Given the description of an element on the screen output the (x, y) to click on. 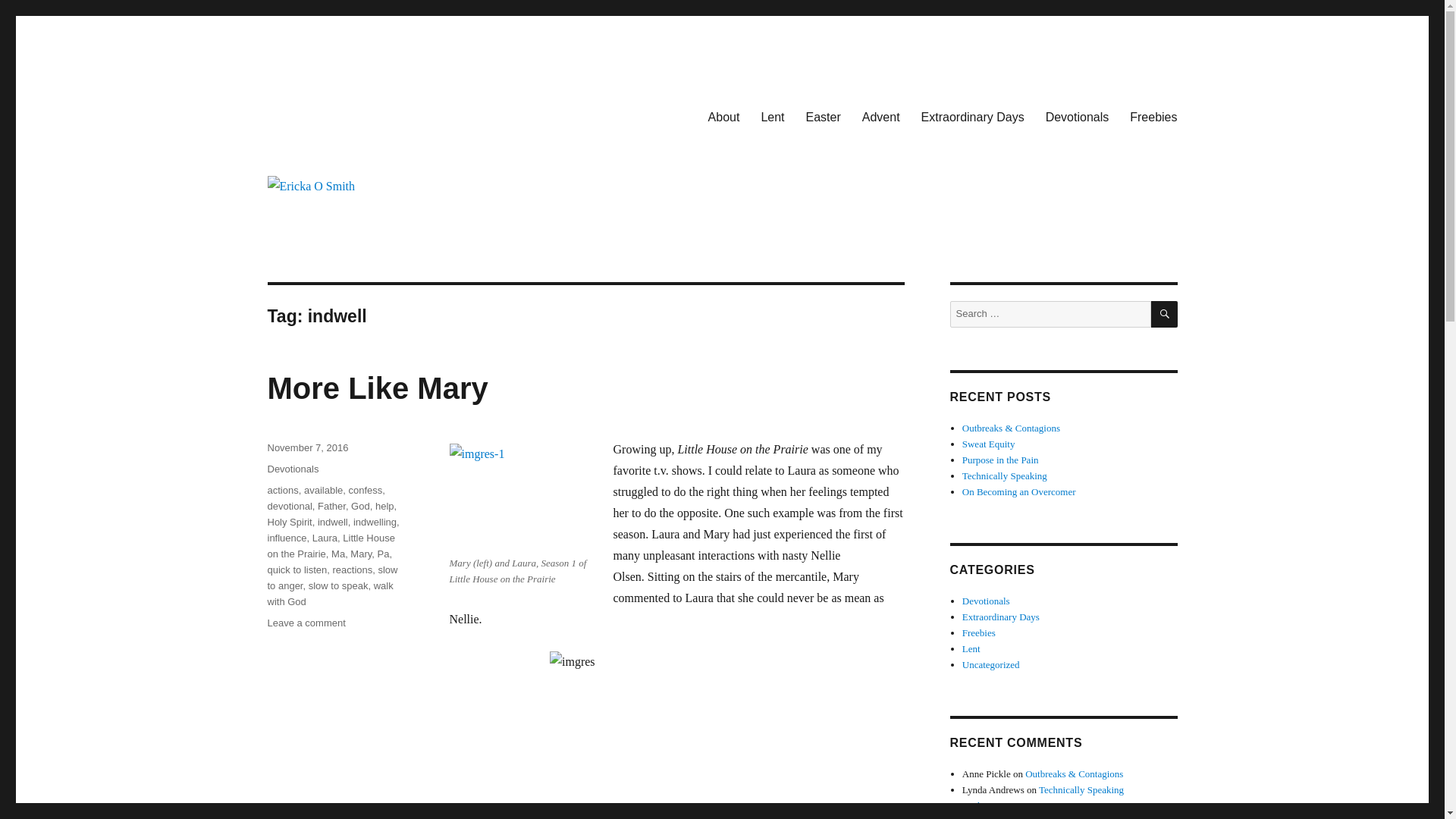
indwelling (374, 521)
Father (331, 505)
available (323, 490)
help (384, 505)
Pa (383, 553)
devotional (288, 505)
Extraordinary Days (973, 116)
Devotionals (1077, 116)
Easter (822, 116)
walk with God (329, 593)
